Given the description of an element on the screen output the (x, y) to click on. 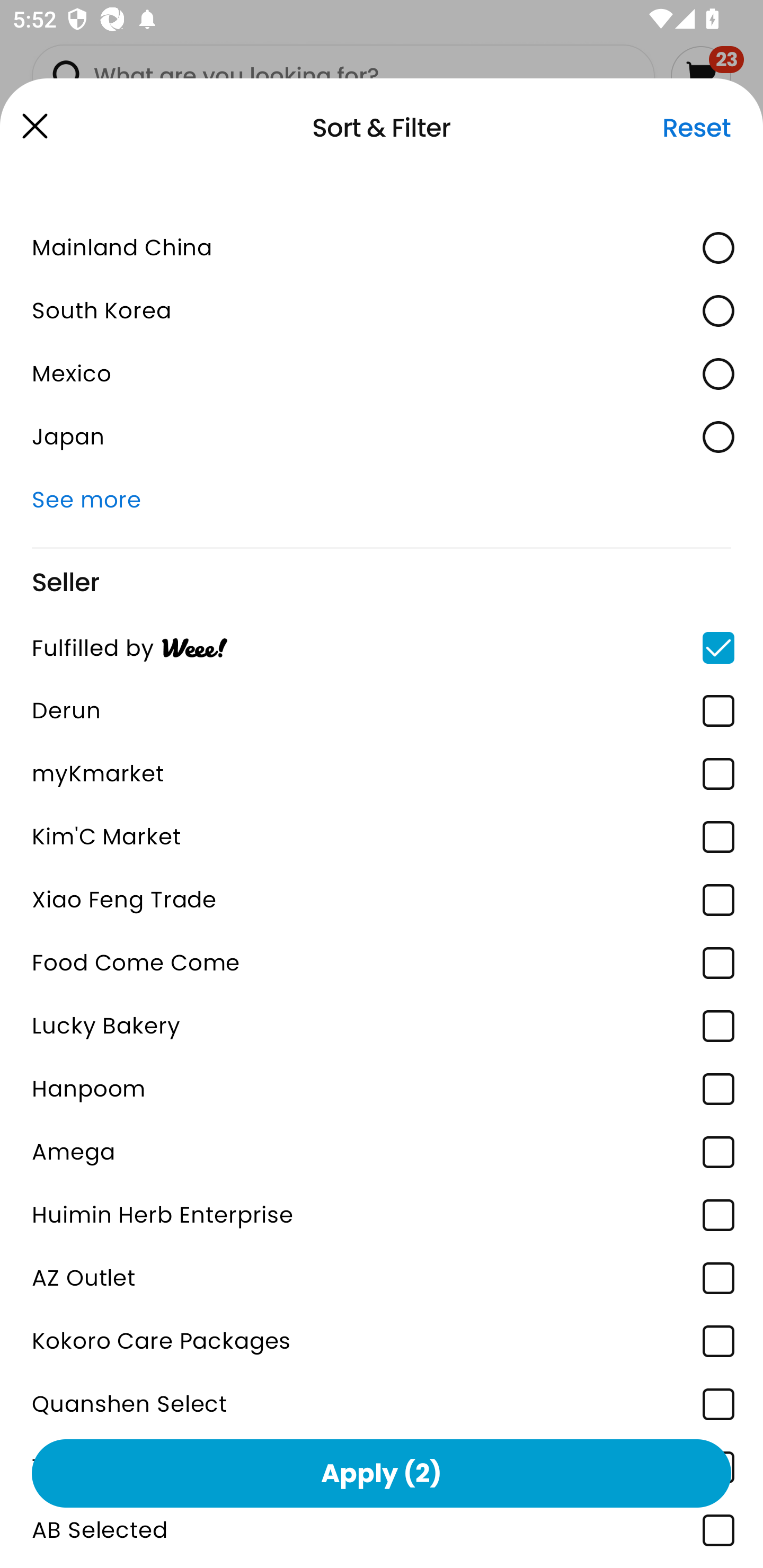
Reset (696, 127)
See more (381, 499)
Apply (2) (381, 1472)
